Given the description of an element on the screen output the (x, y) to click on. 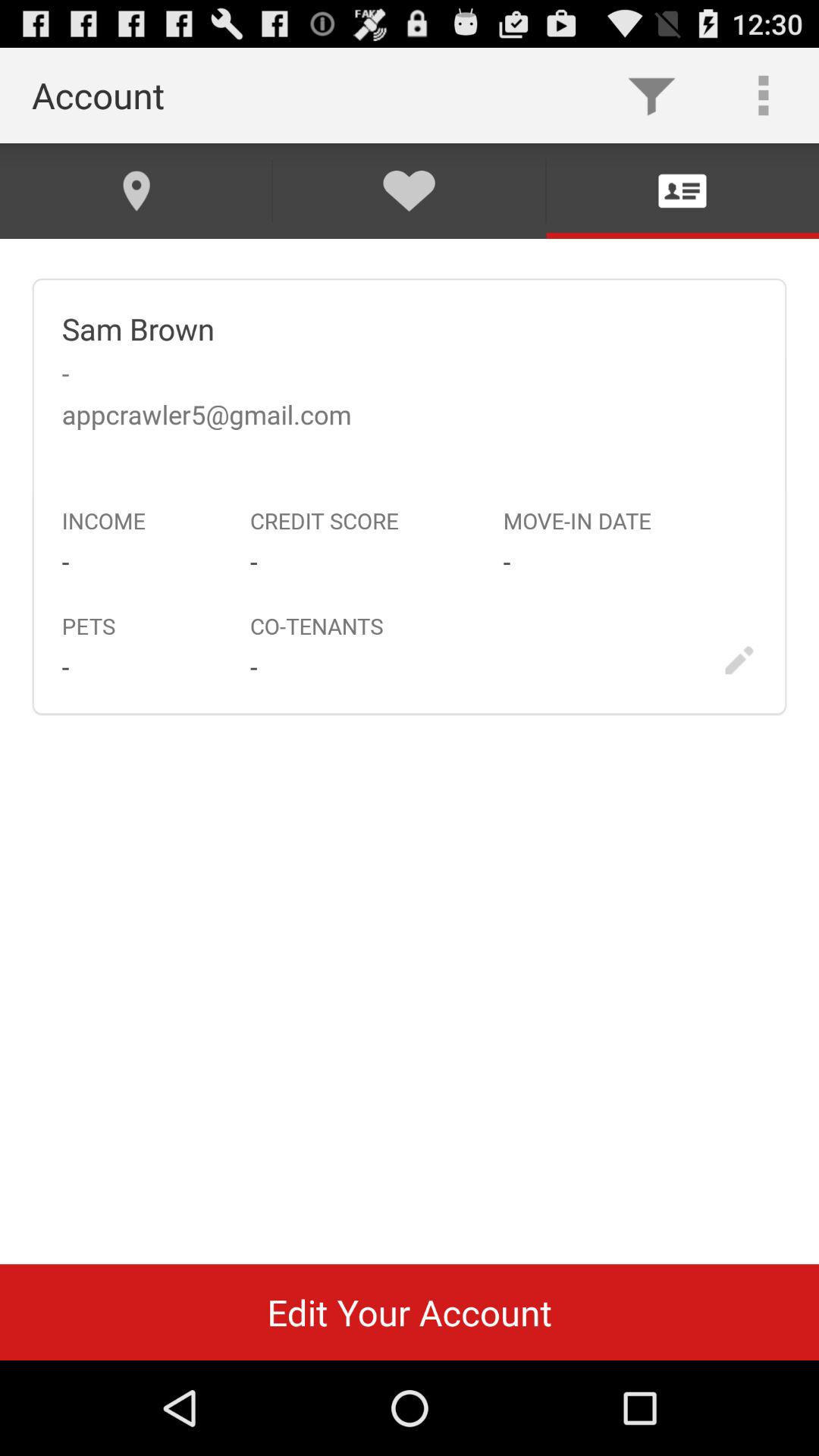
select app next to the account (651, 95)
